Given the description of an element on the screen output the (x, y) to click on. 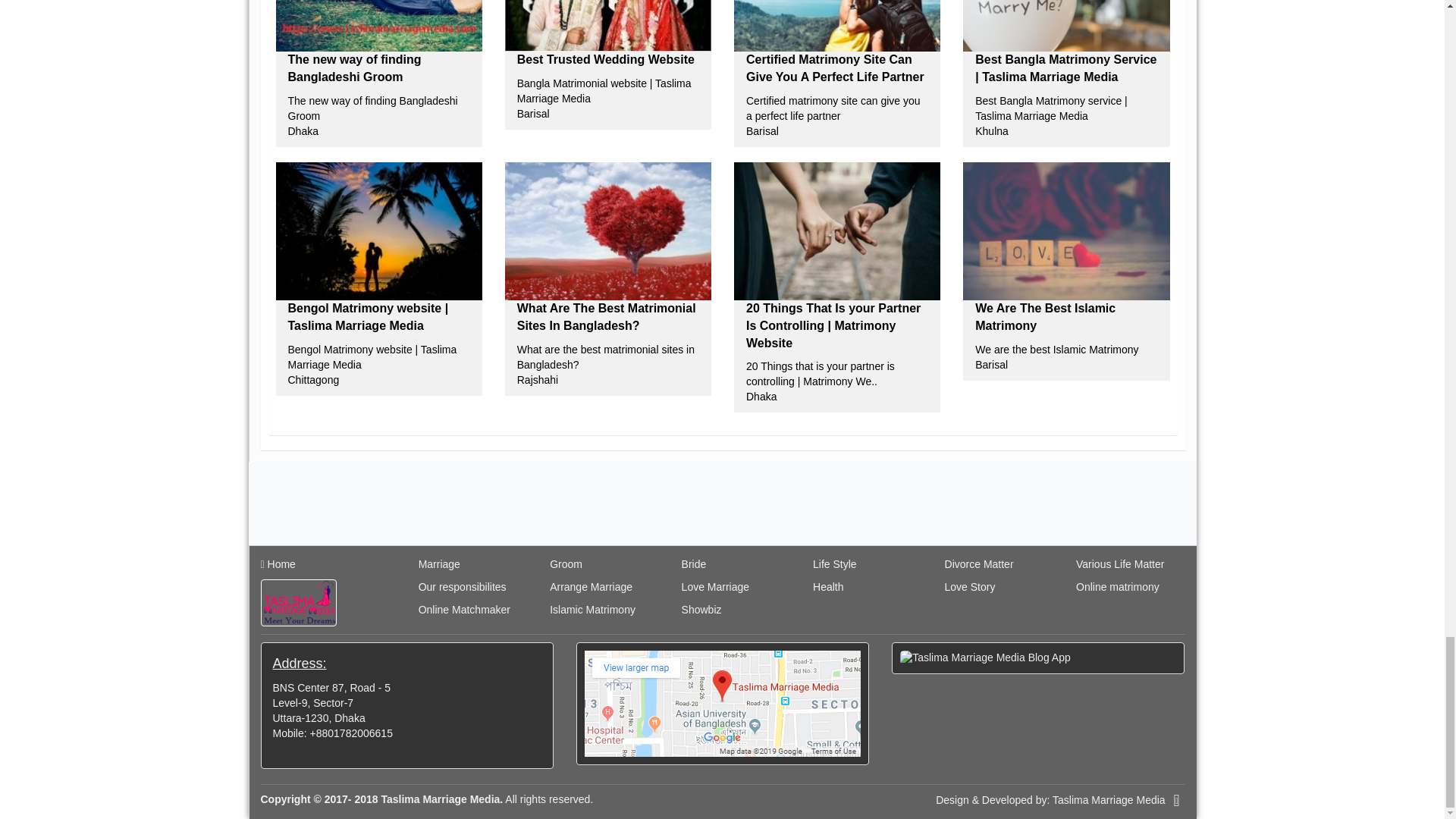
Download our android app (1037, 657)
Diamond Softworld in Cooperation (1176, 800)
